Given the description of an element on the screen output the (x, y) to click on. 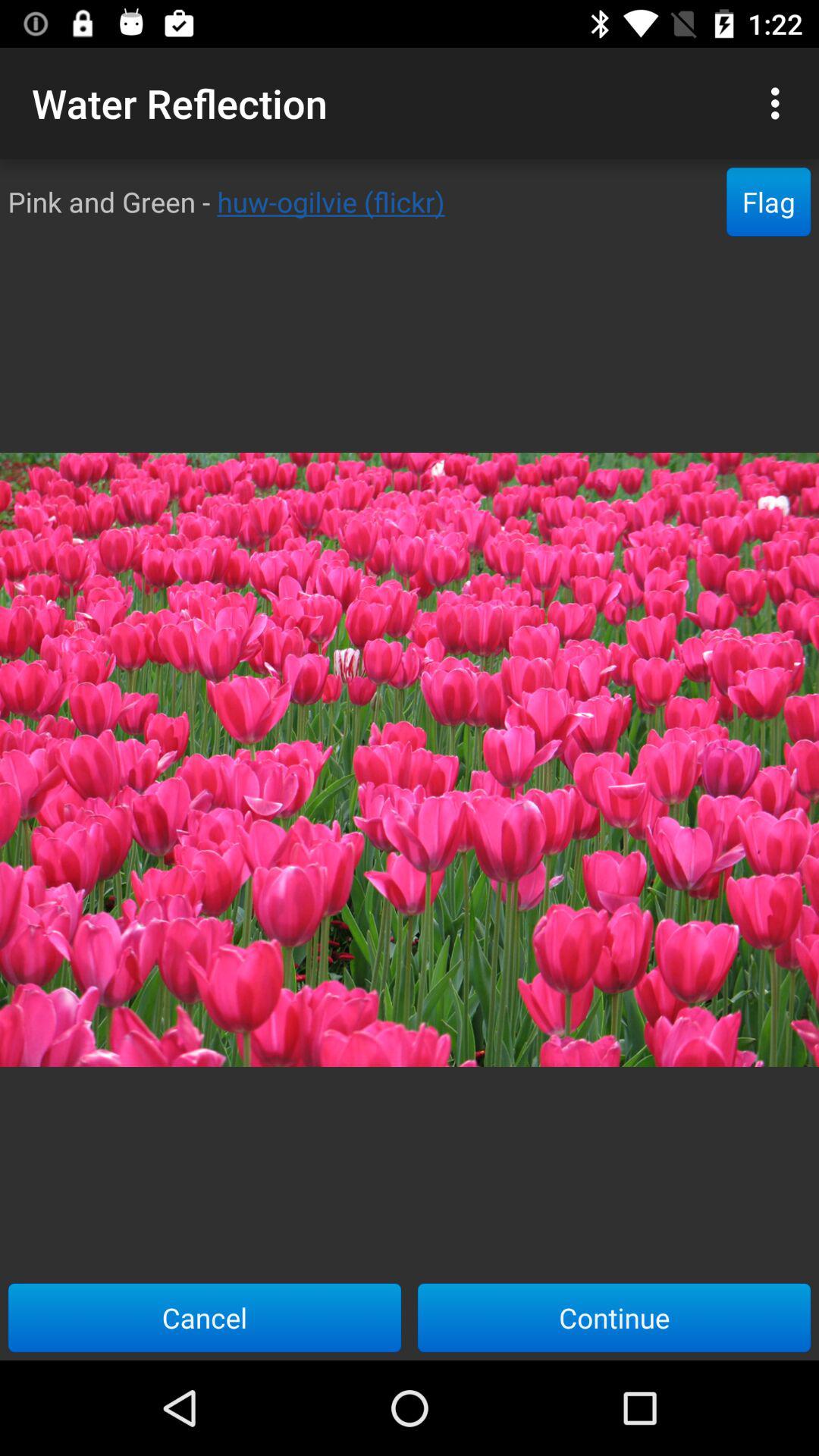
choose the icon next to cancel item (614, 1317)
